Given the description of an element on the screen output the (x, y) to click on. 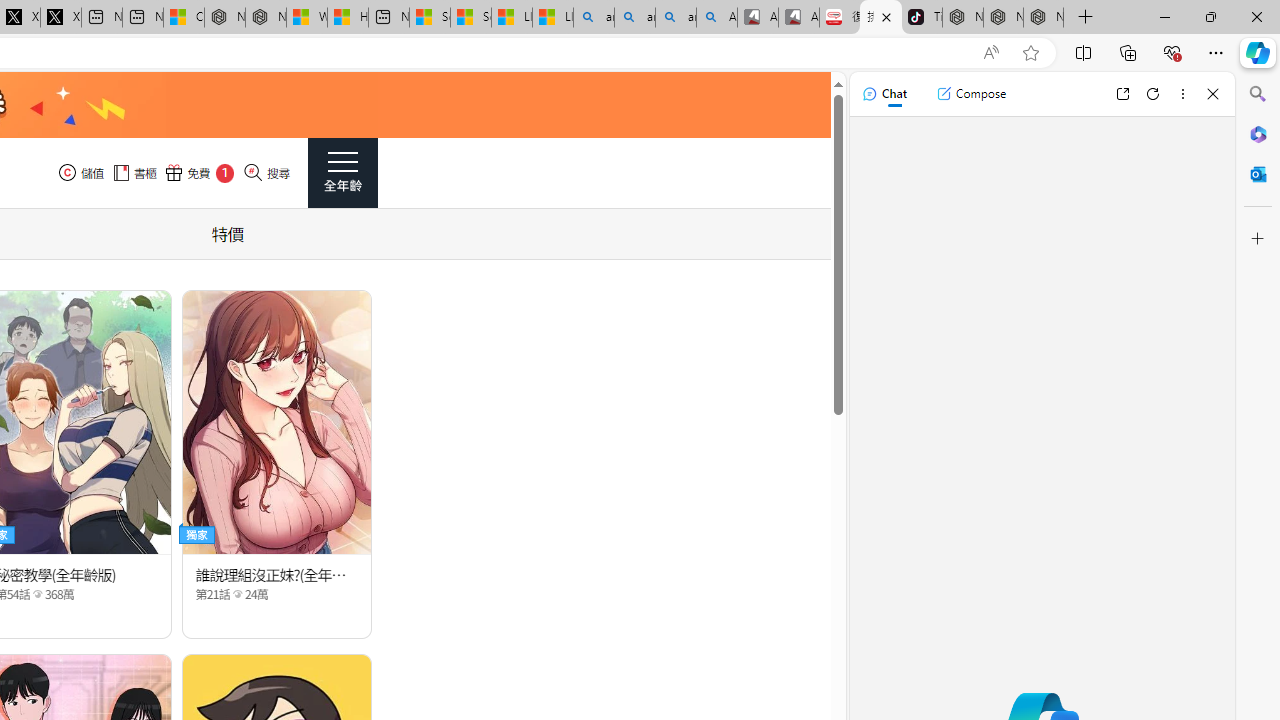
Class: thumb_img (277, 422)
Outlook (1258, 174)
All Cubot phones (799, 17)
